Given the description of an element on the screen output the (x, y) to click on. 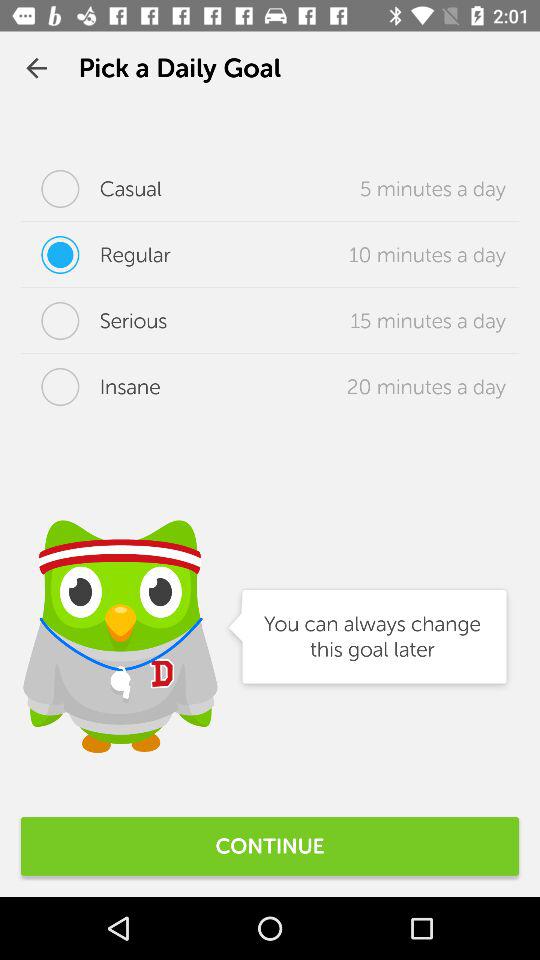
select regular item (95, 255)
